Given the description of an element on the screen output the (x, y) to click on. 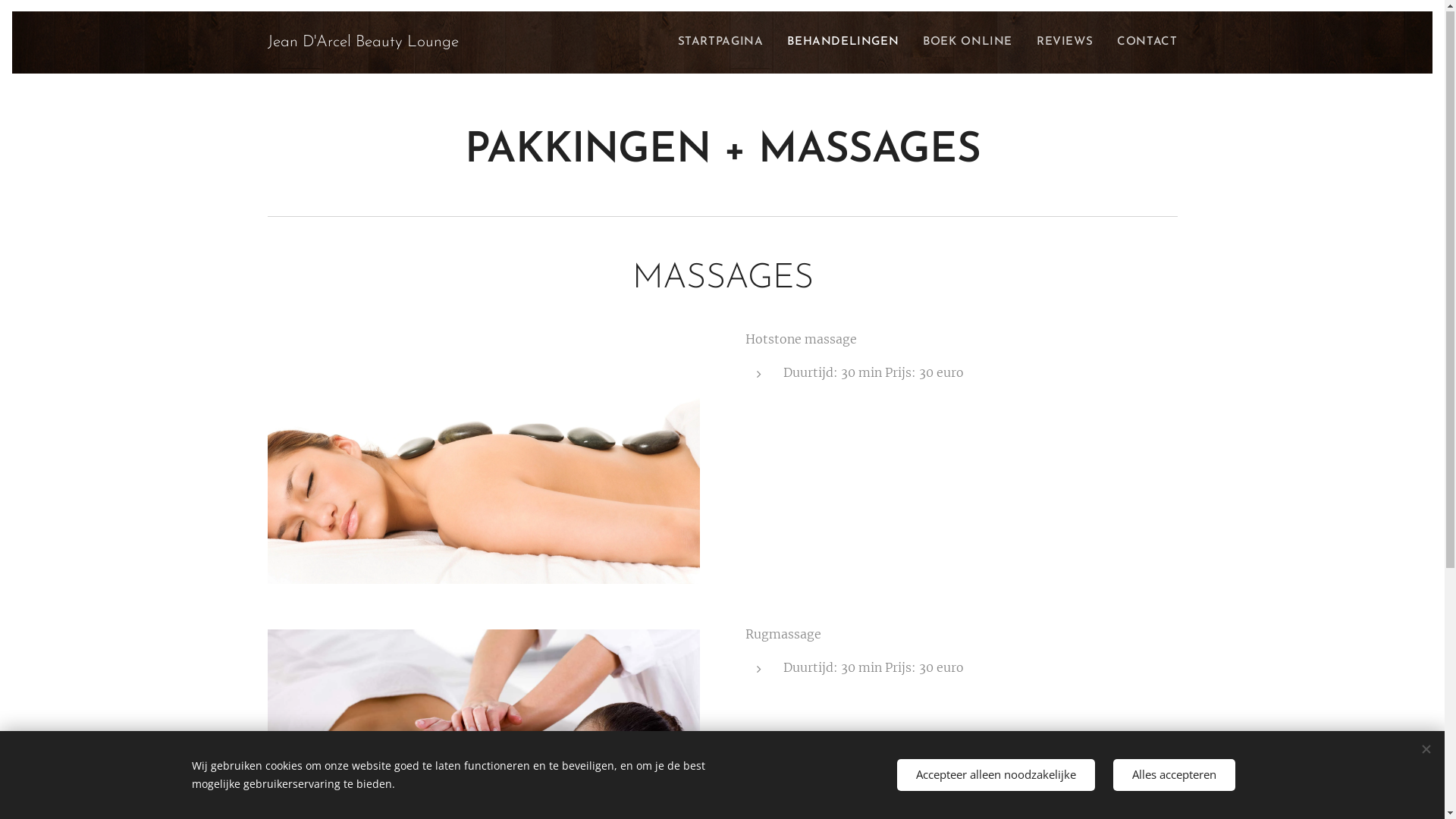
CONTACT Element type: text (1140, 43)
STARTPAGINA Element type: text (724, 43)
Alles accepteren Element type: text (1174, 774)
Jean D'Arcel Beauty Lounge Element type: text (362, 43)
Accepteer alleen noodzakelijke Element type: text (995, 774)
BEHANDELINGEN Element type: text (842, 43)
REVIEWS Element type: text (1064, 43)
BOEK ONLINE Element type: text (967, 43)
